Given the description of an element on the screen output the (x, y) to click on. 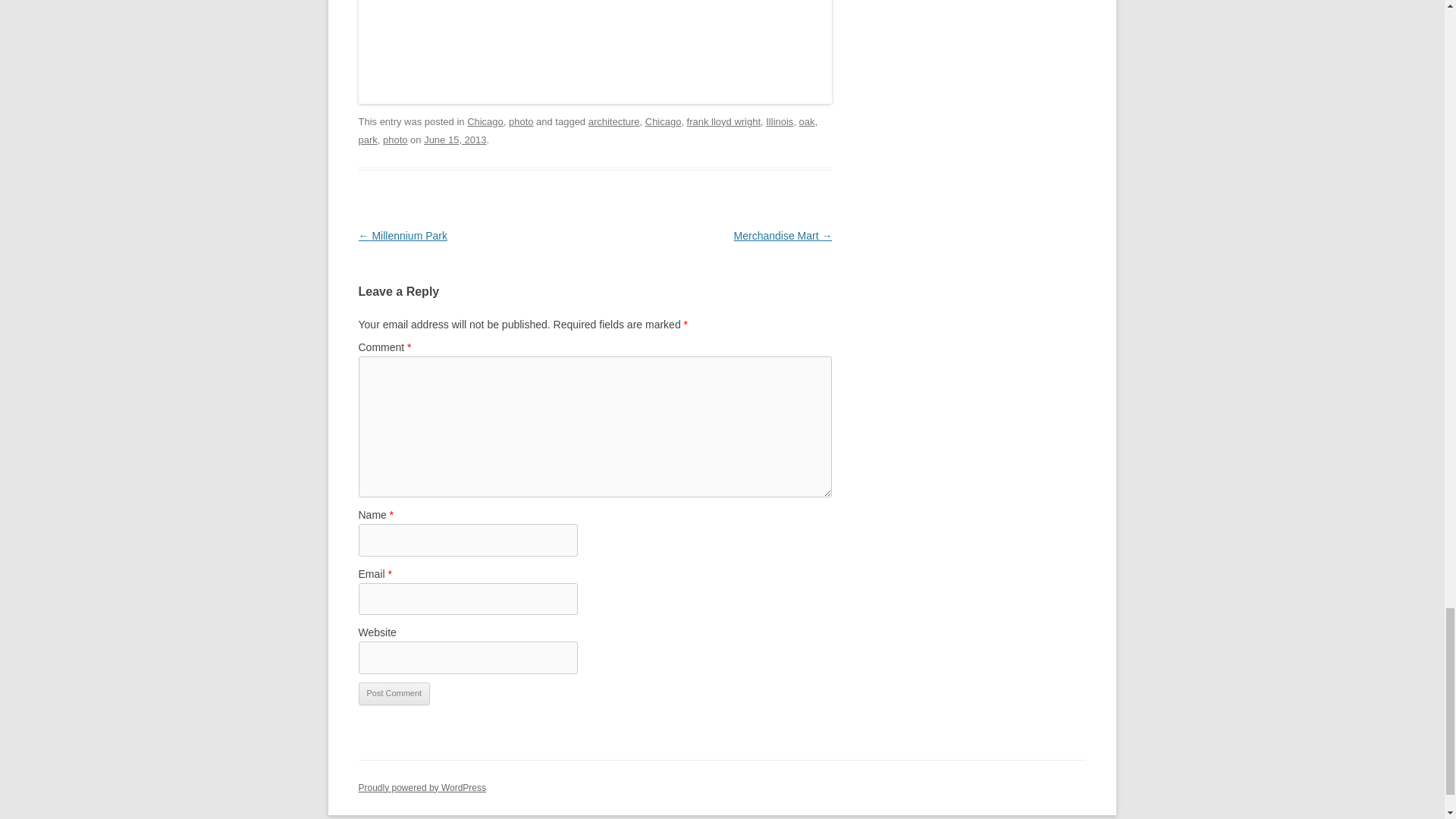
Illinois (779, 121)
photo (521, 121)
Semantic Personal Publishing Platform (422, 787)
7:00 am (454, 139)
Post Comment (393, 693)
oak (807, 121)
June 15, 2013 (454, 139)
Post Comment (393, 693)
park (367, 139)
frank lloyd wright (723, 121)
